Given the description of an element on the screen output the (x, y) to click on. 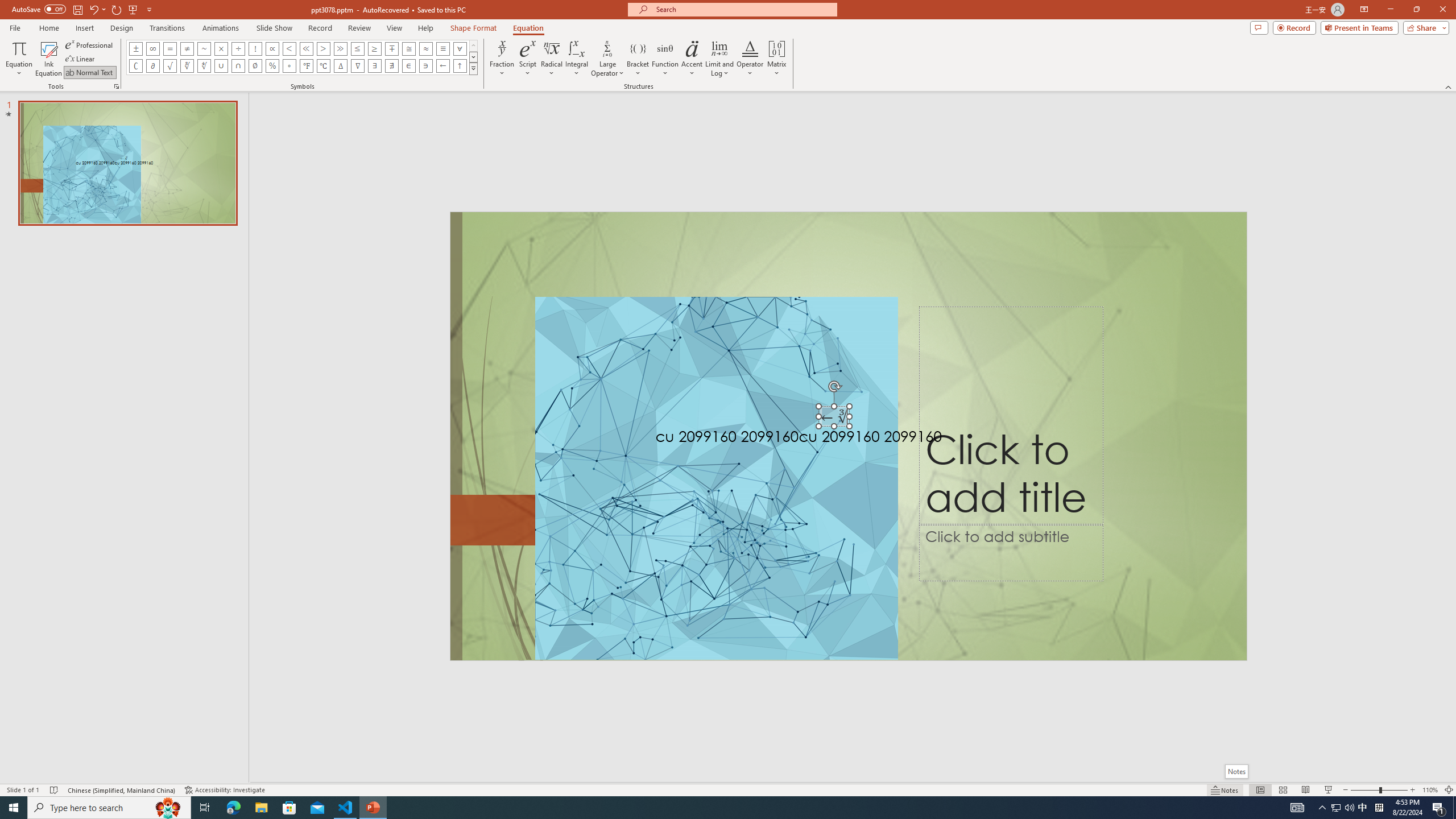
Equation Symbol Fourth Root (203, 65)
Equation Symbol Nabla (357, 65)
Professional (90, 44)
Equation Symbol Almost Equal To (Asymptotic To) (425, 48)
Equation Symbol There Does Not Exist (391, 65)
Equation Symbol Complement (136, 65)
Equation Symbol Infinity (152, 48)
